Given the description of an element on the screen output the (x, y) to click on. 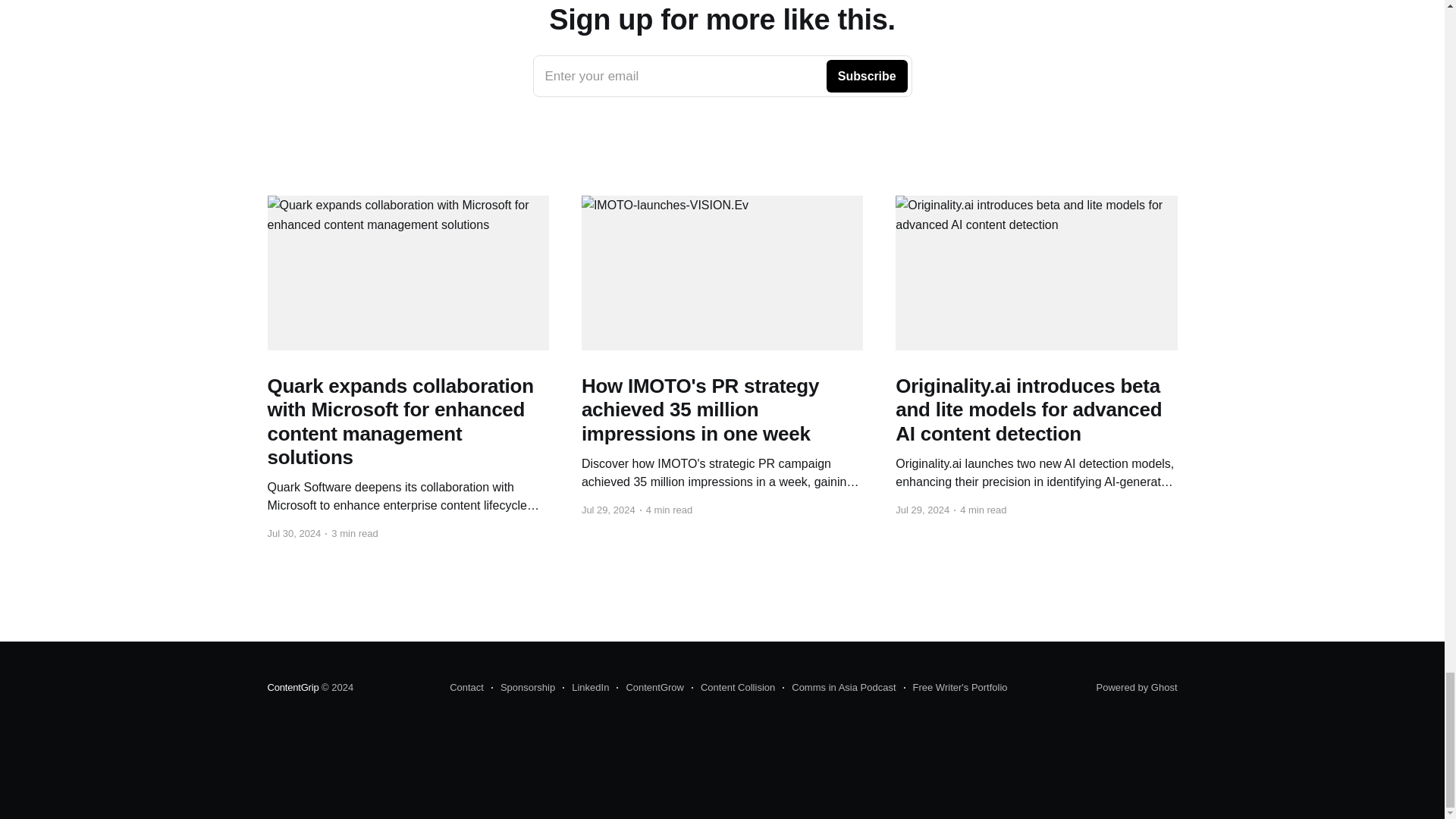
Contact (466, 687)
Free Writer's Portfolio (721, 76)
Comms in Asia Podcast (955, 687)
Powered by Ghost (839, 687)
ContentGrip (1136, 686)
Sponsorship (292, 686)
ContentGrow (523, 687)
LinkedIn (649, 687)
Content Collision (585, 687)
